Given the description of an element on the screen output the (x, y) to click on. 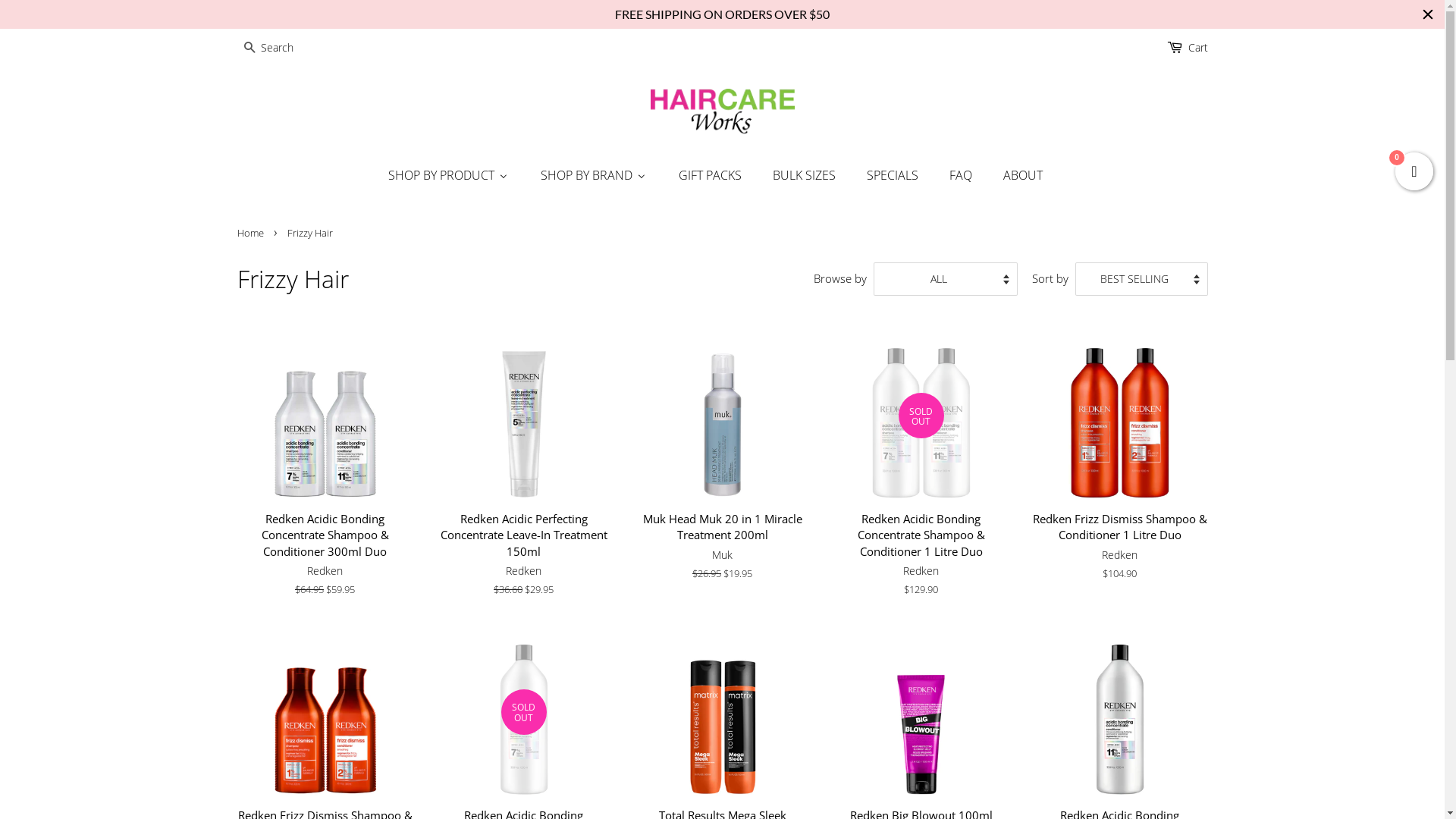
SPECIALS Element type: text (893, 175)
ABOUT Element type: text (1023, 175)
SHOP BY PRODUCT Element type: text (455, 175)
0 Element type: text (1414, 170)
Cart Element type: text (1197, 47)
SHOP BY BRAND Element type: text (595, 175)
SEARCH Element type: text (248, 47)
GIFT PACKS Element type: text (711, 175)
BULK SIZES Element type: text (805, 175)
FAQ Element type: text (961, 175)
Home Element type: text (251, 232)
FREE SHIPPING ON ORDERS OVER $50 Element type: text (722, 14)
